Given the description of an element on the screen output the (x, y) to click on. 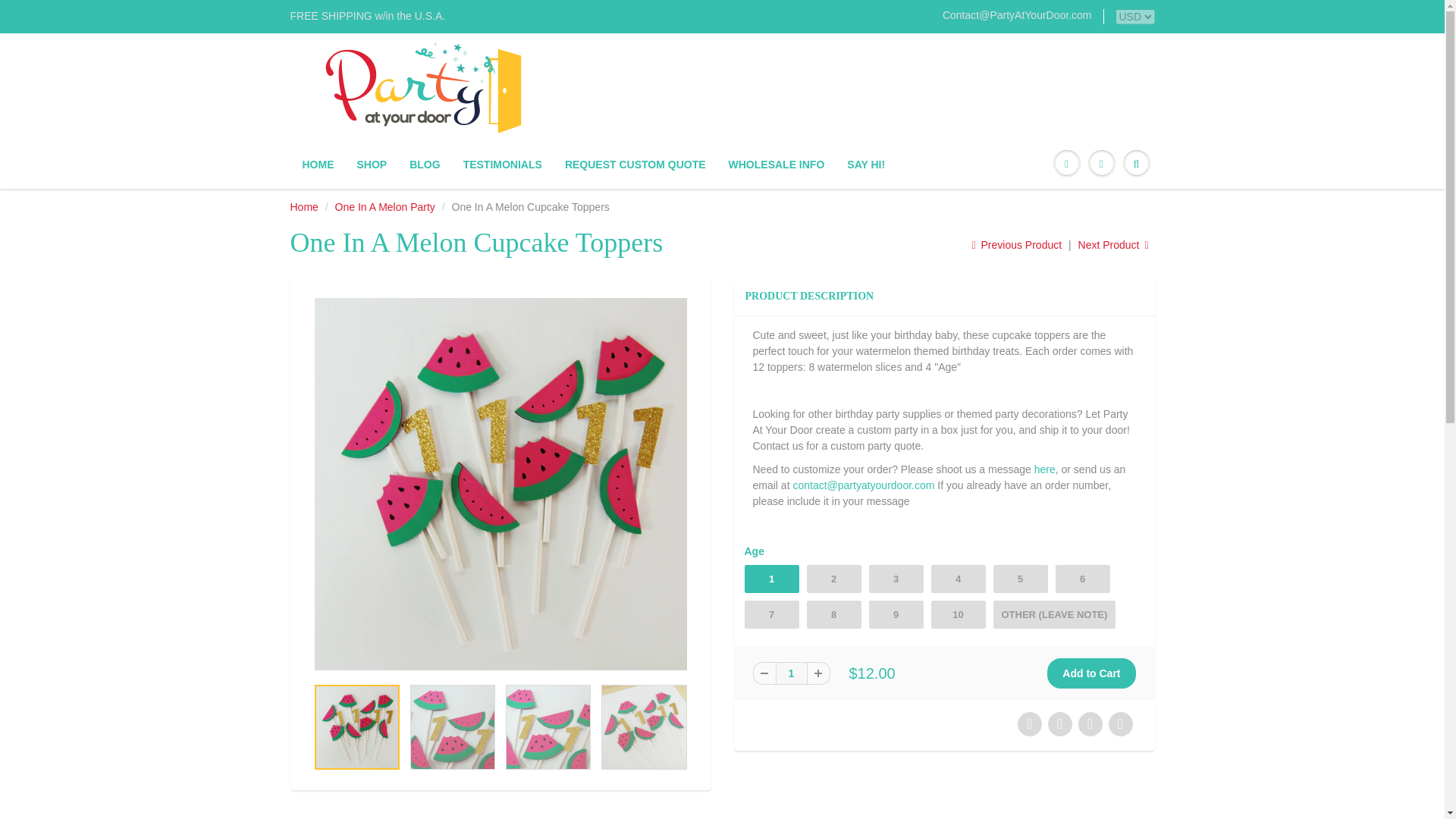
TESTIMONIALS (502, 164)
Add to Cart (1090, 673)
SAY HI! (865, 164)
SHOP (372, 164)
One In A Melon Party (384, 206)
Previous Product (1015, 244)
BLOG (424, 164)
Home (303, 206)
Home (303, 206)
